Given the description of an element on the screen output the (x, y) to click on. 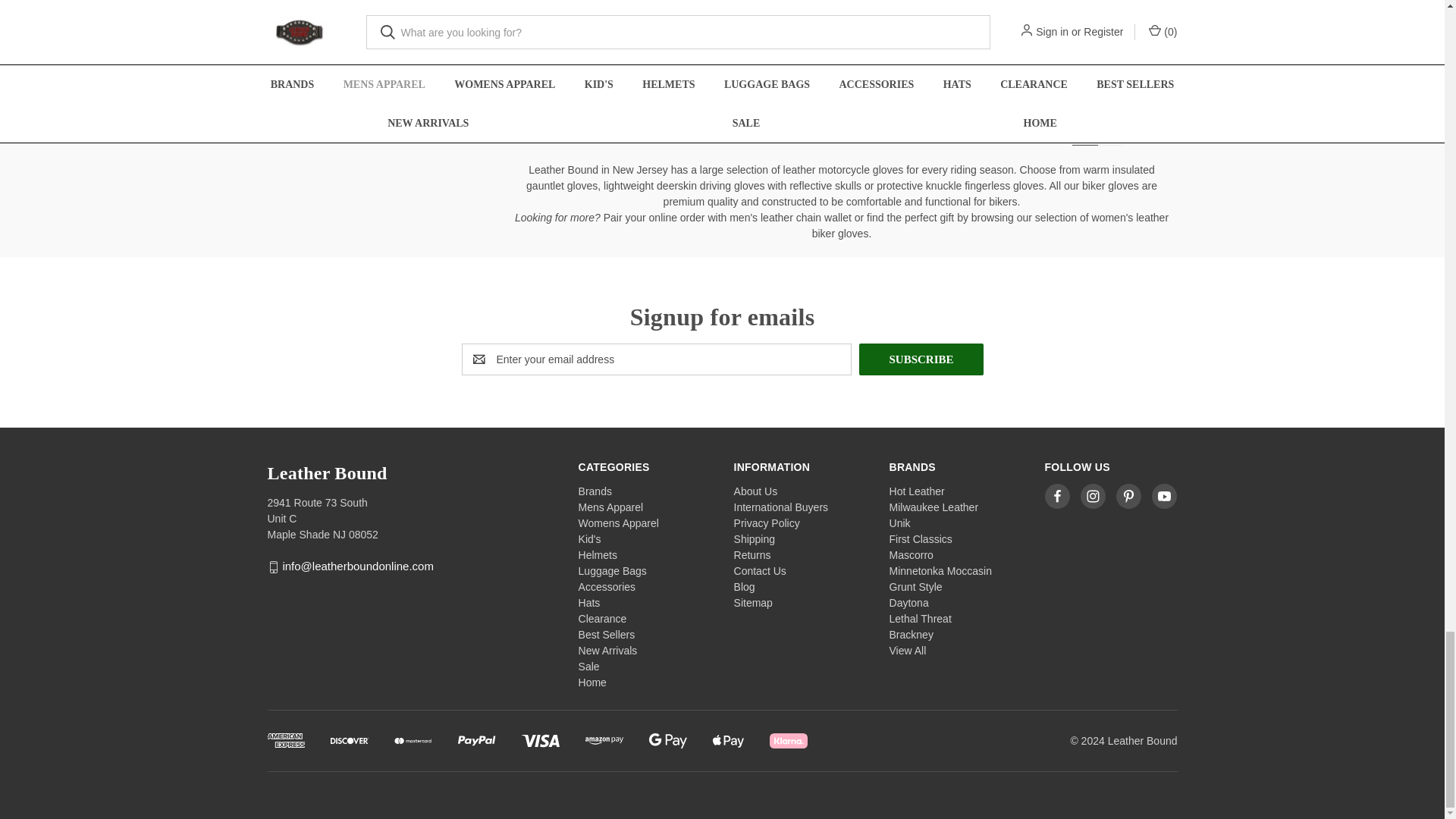
Subscribe (920, 359)
